Given the description of an element on the screen output the (x, y) to click on. 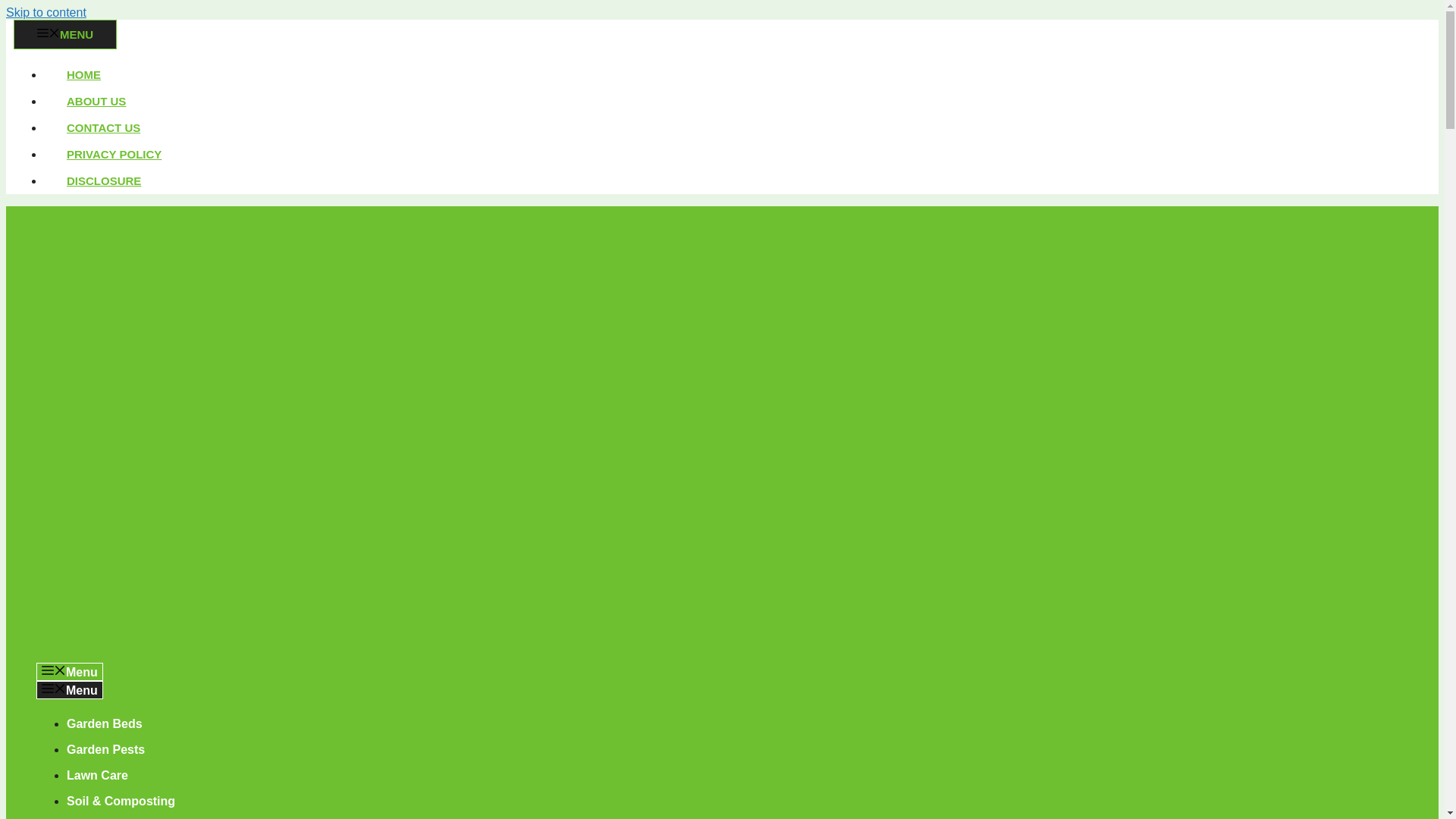
Menu (69, 671)
Menu (69, 689)
HOME (83, 74)
PRIVACY POLICY (113, 154)
Garden Beds (104, 723)
CONTACT US (103, 127)
Skip to content (45, 11)
ABOUT US (95, 101)
MENU (64, 34)
DISCLOSURE (103, 180)
Lawn Care (97, 775)
Garden Pests (105, 748)
Skip to content (45, 11)
